Given the description of an element on the screen output the (x, y) to click on. 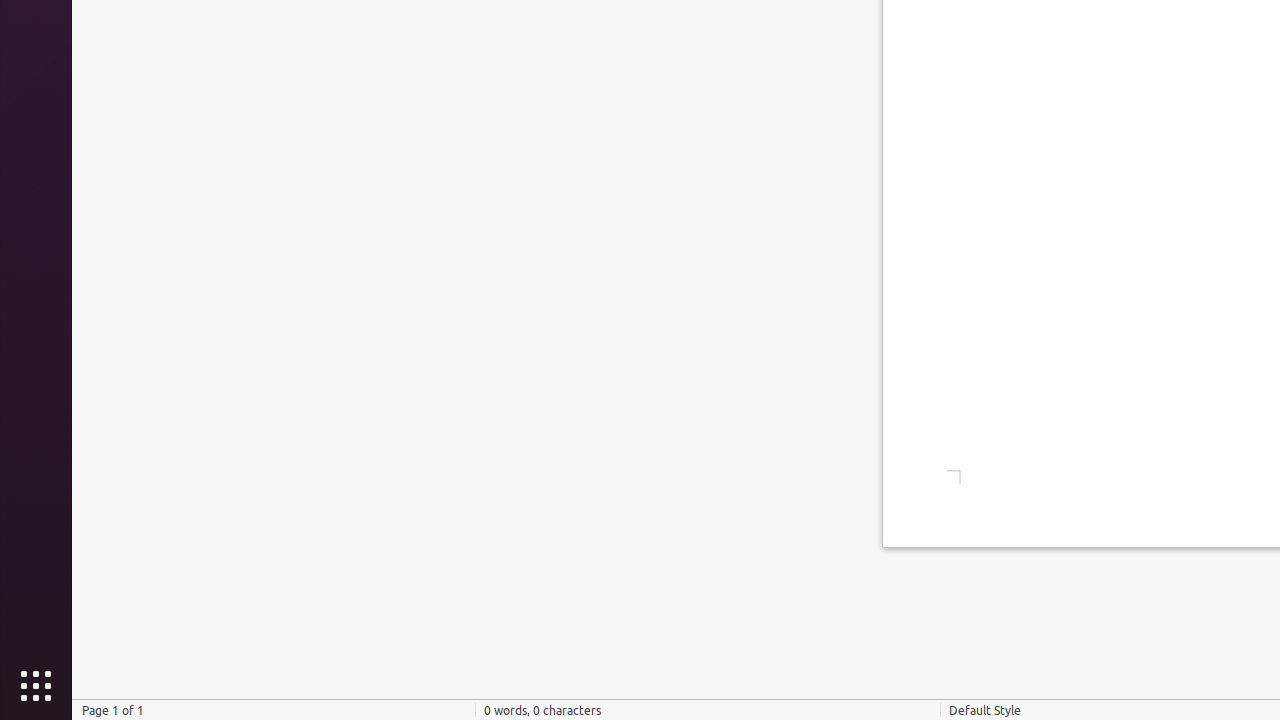
Show Applications Element type: toggle-button (36, 686)
